Given the description of an element on the screen output the (x, y) to click on. 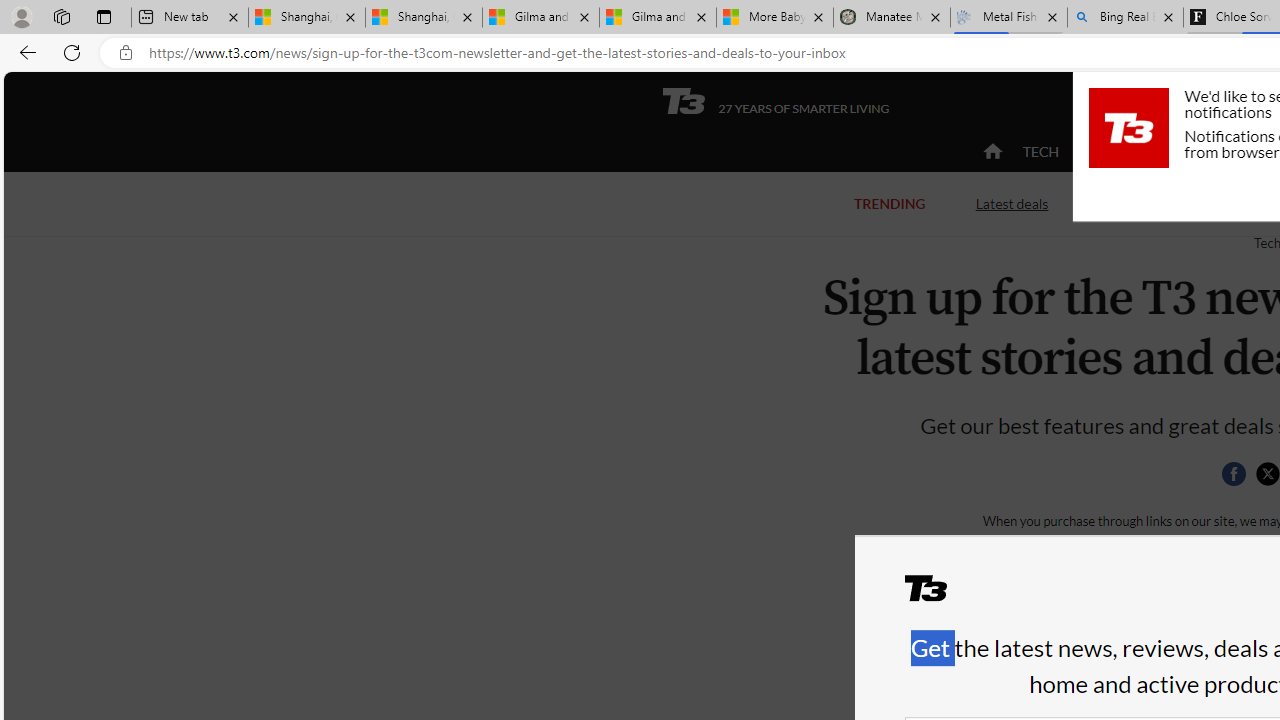
HOME LIVING (1233, 151)
Share this page on Twitter (1267, 474)
ACTIVE (1124, 151)
Bing Real Estate - Home sales and rental listings (1124, 17)
TECH (1040, 151)
Latest deals (1011, 204)
Back to Class 2024 (1178, 204)
Share this page on Facebook (1233, 474)
T3 (937, 595)
t3.com Logo (1128, 127)
